Given the description of an element on the screen output the (x, y) to click on. 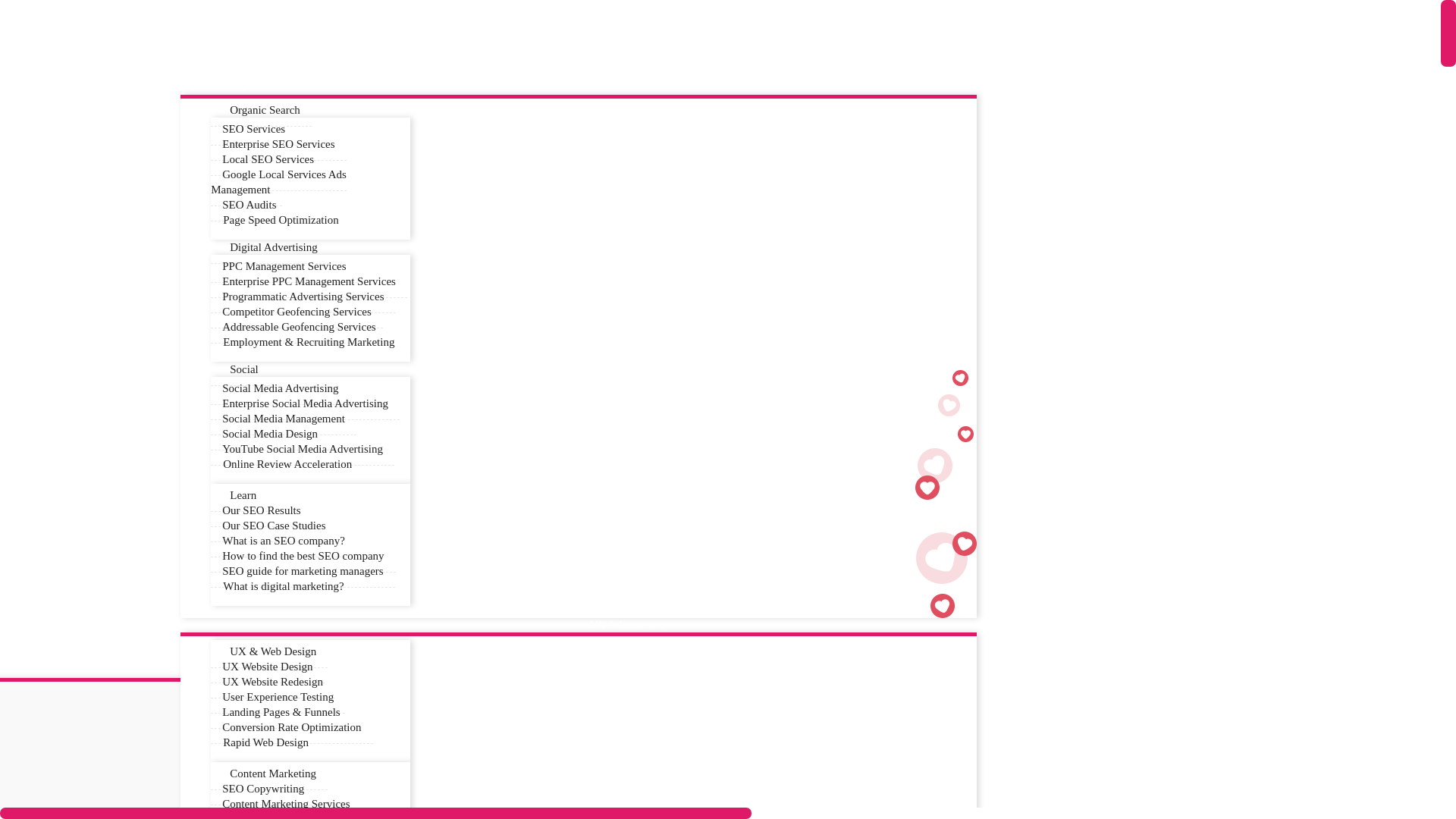
How to find the best SEO company Element type: text (302, 555)
What is digital marketing? Element type: text (283, 585)
Enterprise SEO Services Element type: text (277, 144)
Content Marketing Element type: text (268, 773)
Social Media Design Element type: text (269, 433)
PPC Management Services Element type: text (283, 266)
SEO & Lead Generation Element type: text (247, 86)
Programmatic Advertising Services Element type: text (302, 296)
Enterprise PPC Management Services Element type: text (308, 281)
Social Element type: text (239, 369)
Page Speed Optimization Element type: text (280, 219)
Our SEO Results Element type: text (260, 510)
Digital Advertising Element type: text (269, 247)
Local SEO Services Element type: text (267, 159)
Competitor Geofencing Services Element type: text (296, 311)
User Experience Testing Element type: text (277, 696)
What is an SEO company? Element type: text (283, 540)
UX & Web Design Element type: text (268, 651)
Rapid Web Design Element type: text (265, 742)
Social Media Advertising Element type: text (279, 388)
Google Local Services Ads Management Element type: text (278, 182)
SEO Audits Element type: text (248, 204)
Employment & Recruiting Marketing Element type: text (308, 341)
Addressable Geofencing Services Element type: text (298, 326)
Online Review Acceleration Element type: text (287, 463)
Conversion Rate Optimization Element type: text (291, 727)
Ecommerce Element type: text (201, 669)
SEO guide for marketing managers Element type: text (302, 571)
Social Media Management Element type: text (283, 418)
Enterprise Social Media Advertising Element type: text (304, 403)
SEO Services Element type: text (253, 128)
YouTube Social Media Advertising Element type: text (302, 449)
UX & Interactive Element type: text (630, 624)
Our SEO Case Studies Element type: text (273, 525)
Learn Element type: text (238, 495)
Organic Search Element type: text (260, 110)
UX Website Design Element type: text (266, 666)
SEO Copywriting Element type: text (262, 788)
UX Website Redesign Element type: text (272, 681)
Landing Pages & Funnels Element type: text (280, 712)
